Given the description of an element on the screen output the (x, y) to click on. 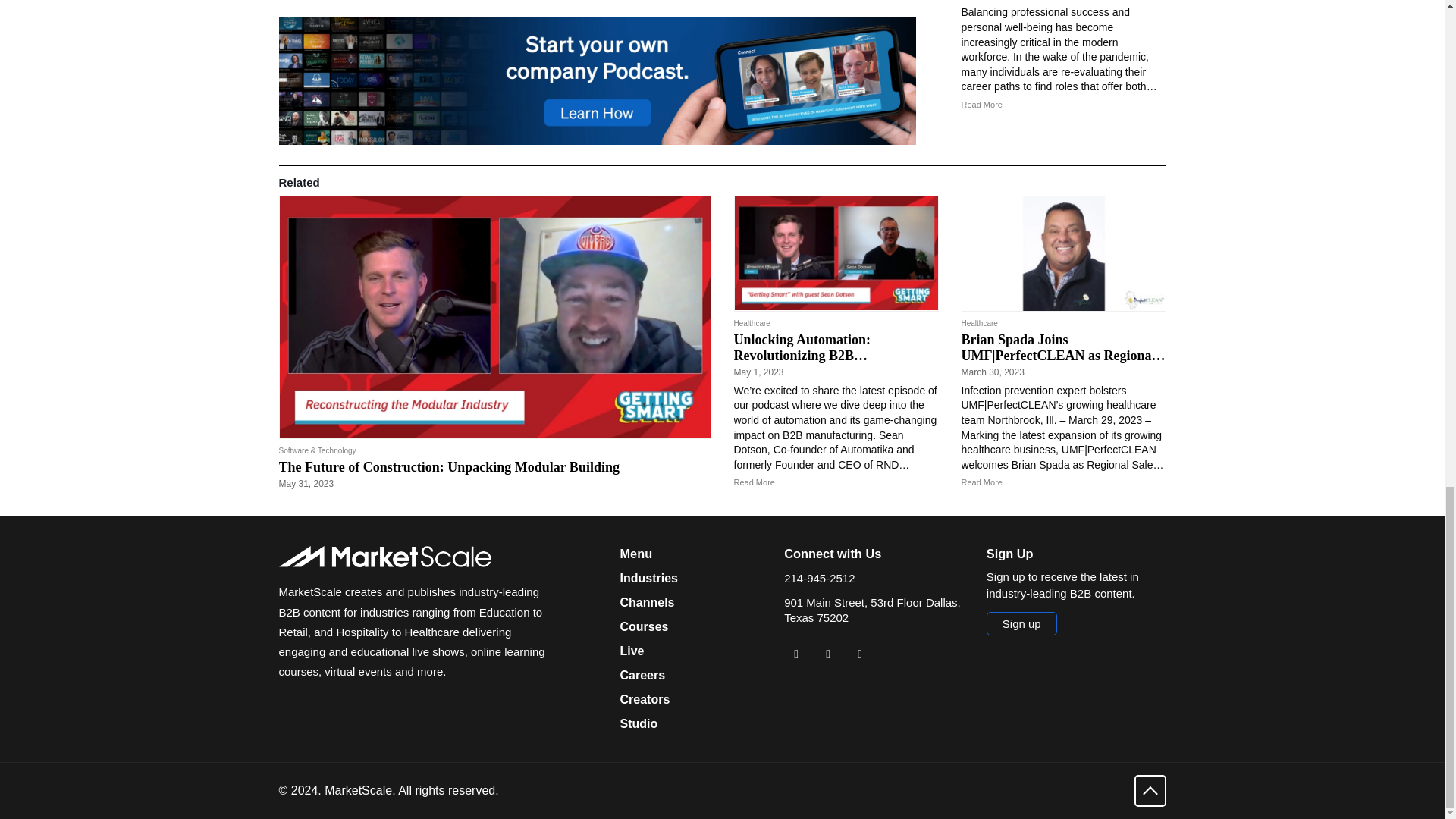
Share on X (827, 654)
Share on Instagram (859, 654)
Share on Linkedin (796, 654)
